Given the description of an element on the screen output the (x, y) to click on. 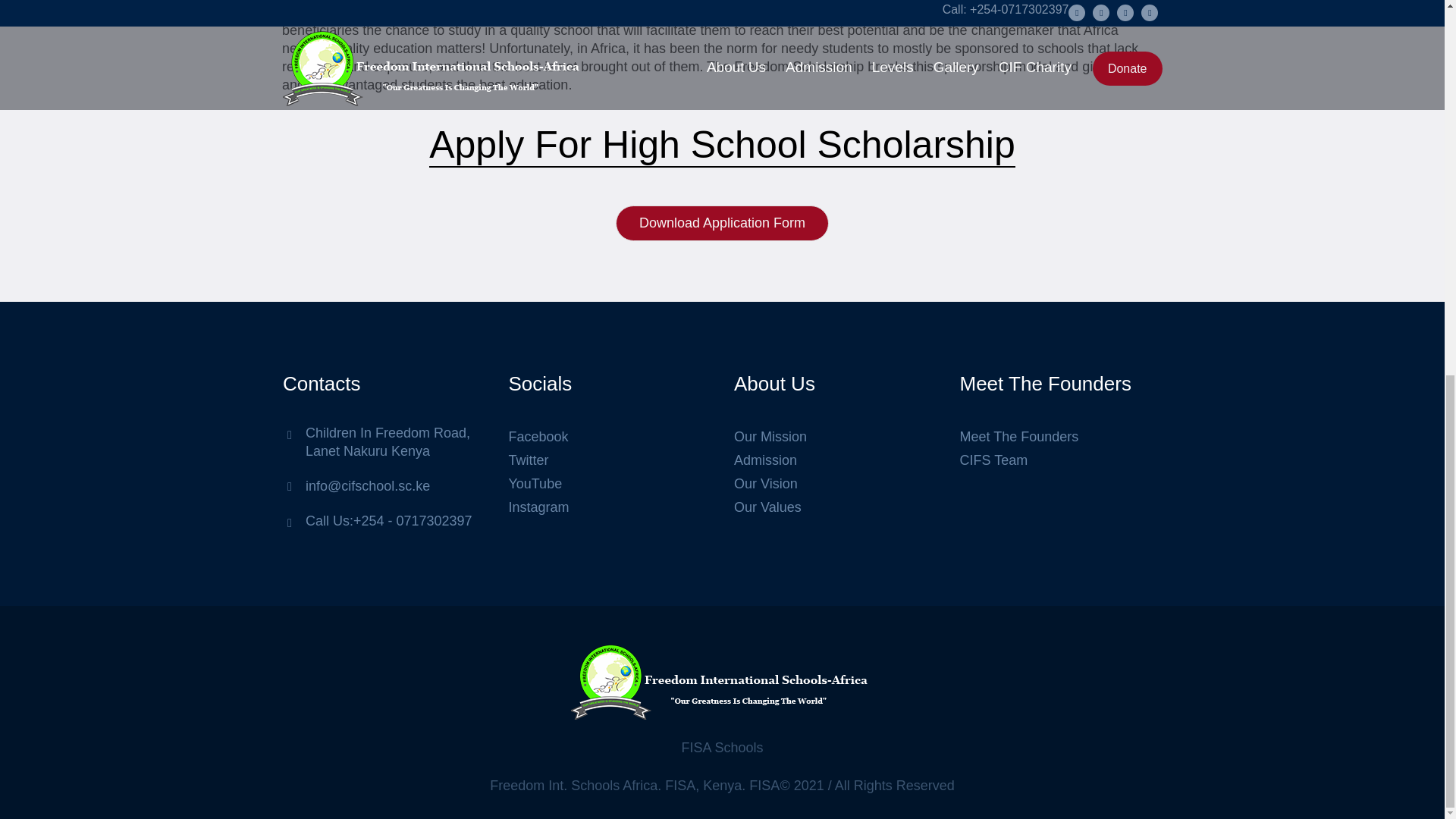
Freedom International Schools-Africa (721, 681)
